Given the description of an element on the screen output the (x, y) to click on. 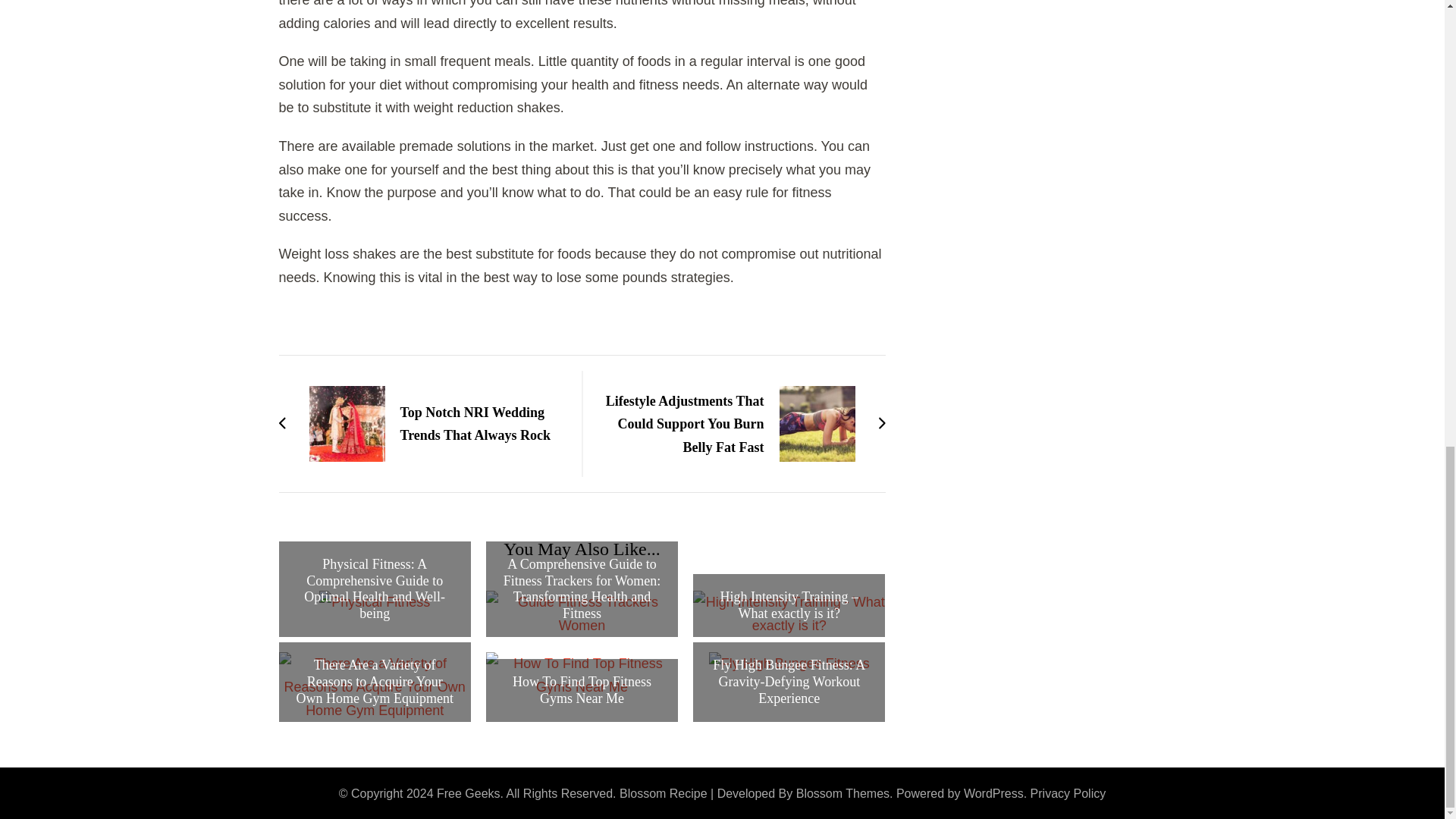
How To Find Top Fitness Gyms Near Me (581, 690)
Top Notch NRI Wedding Trends That Always Rock (423, 423)
